Given the description of an element on the screen output the (x, y) to click on. 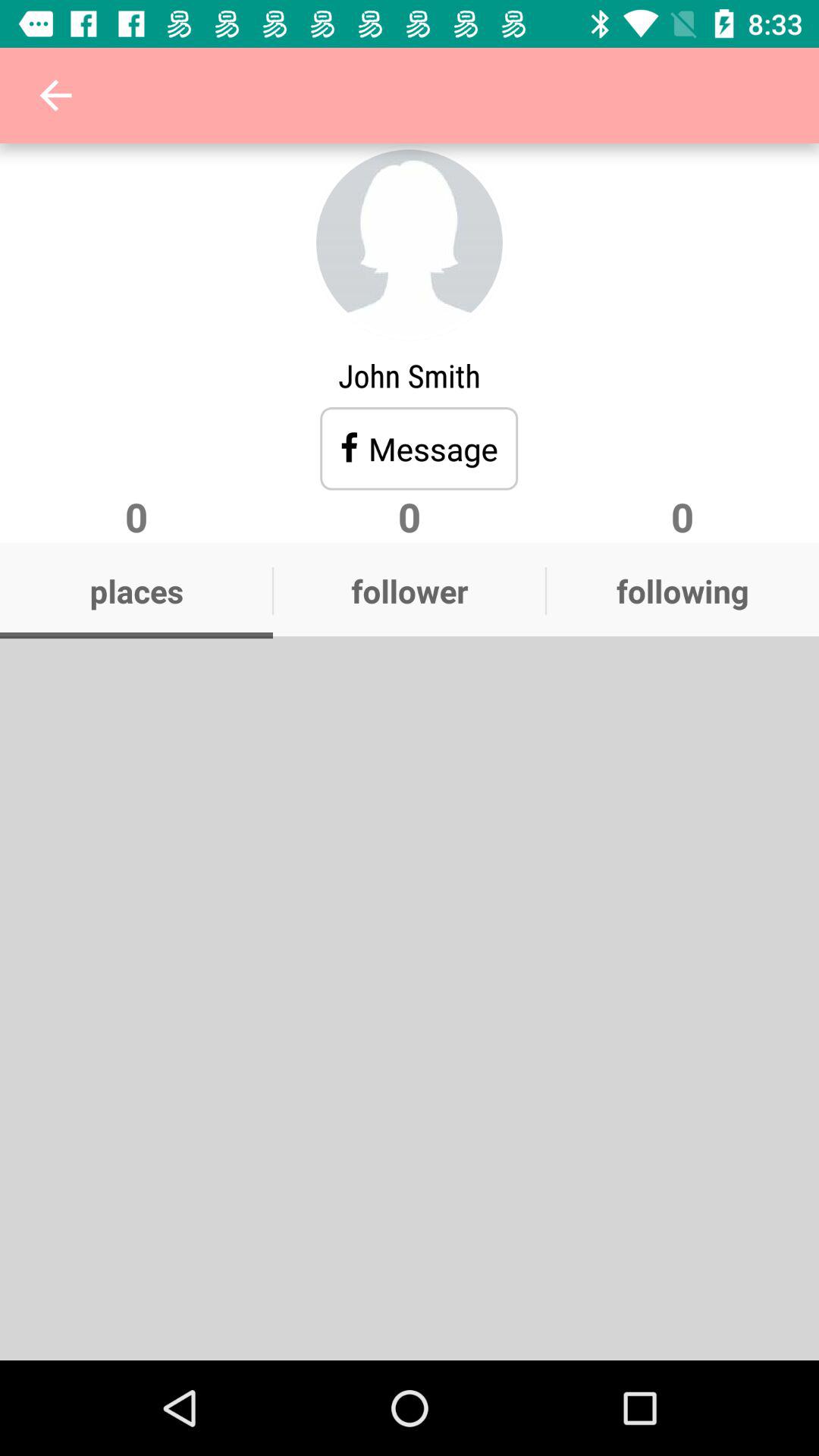
turn off the icon next to places icon (409, 590)
